Given the description of an element on the screen output the (x, y) to click on. 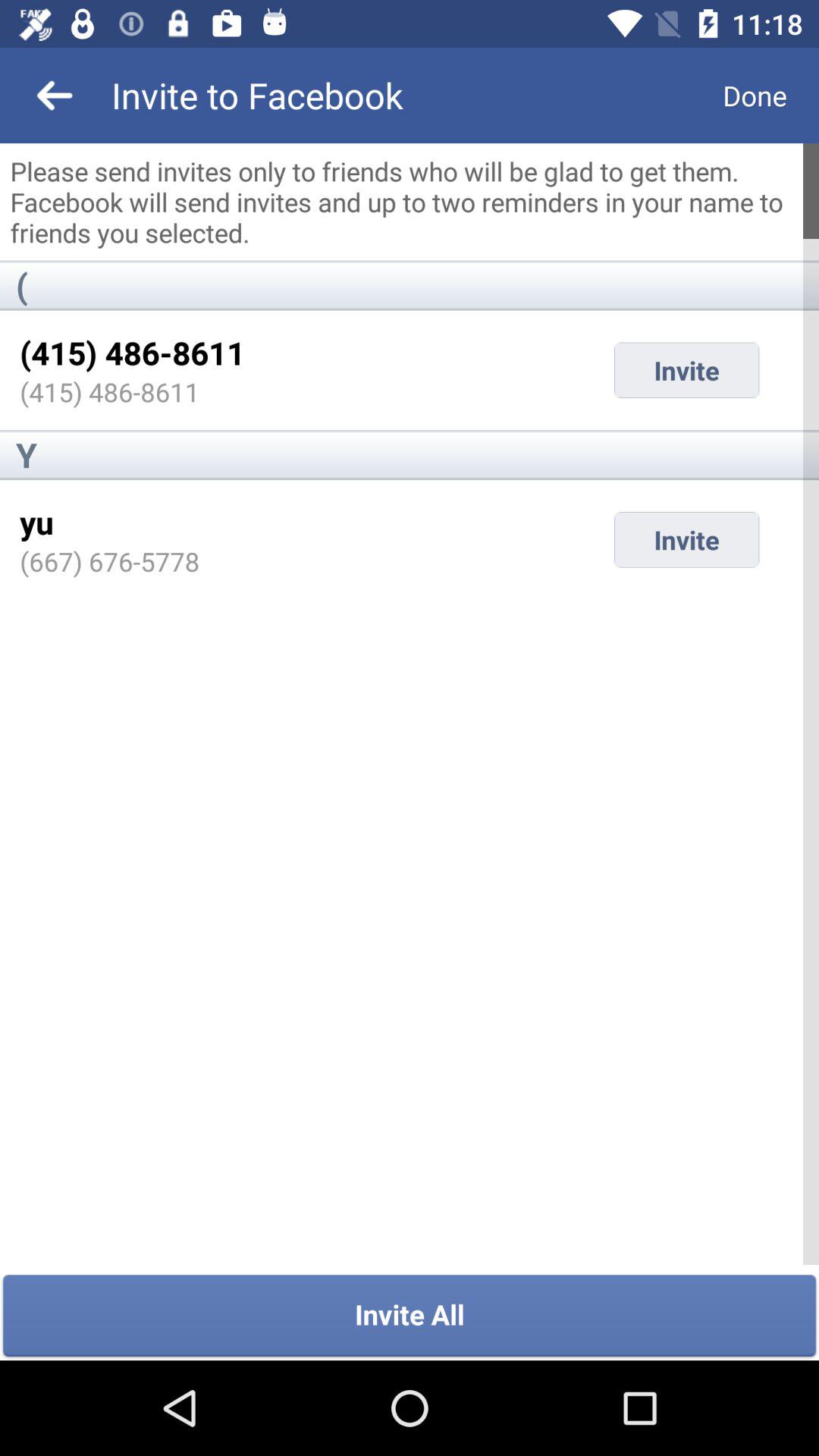
turn off the icon to the left of invite to facebook (55, 95)
